Given the description of an element on the screen output the (x, y) to click on. 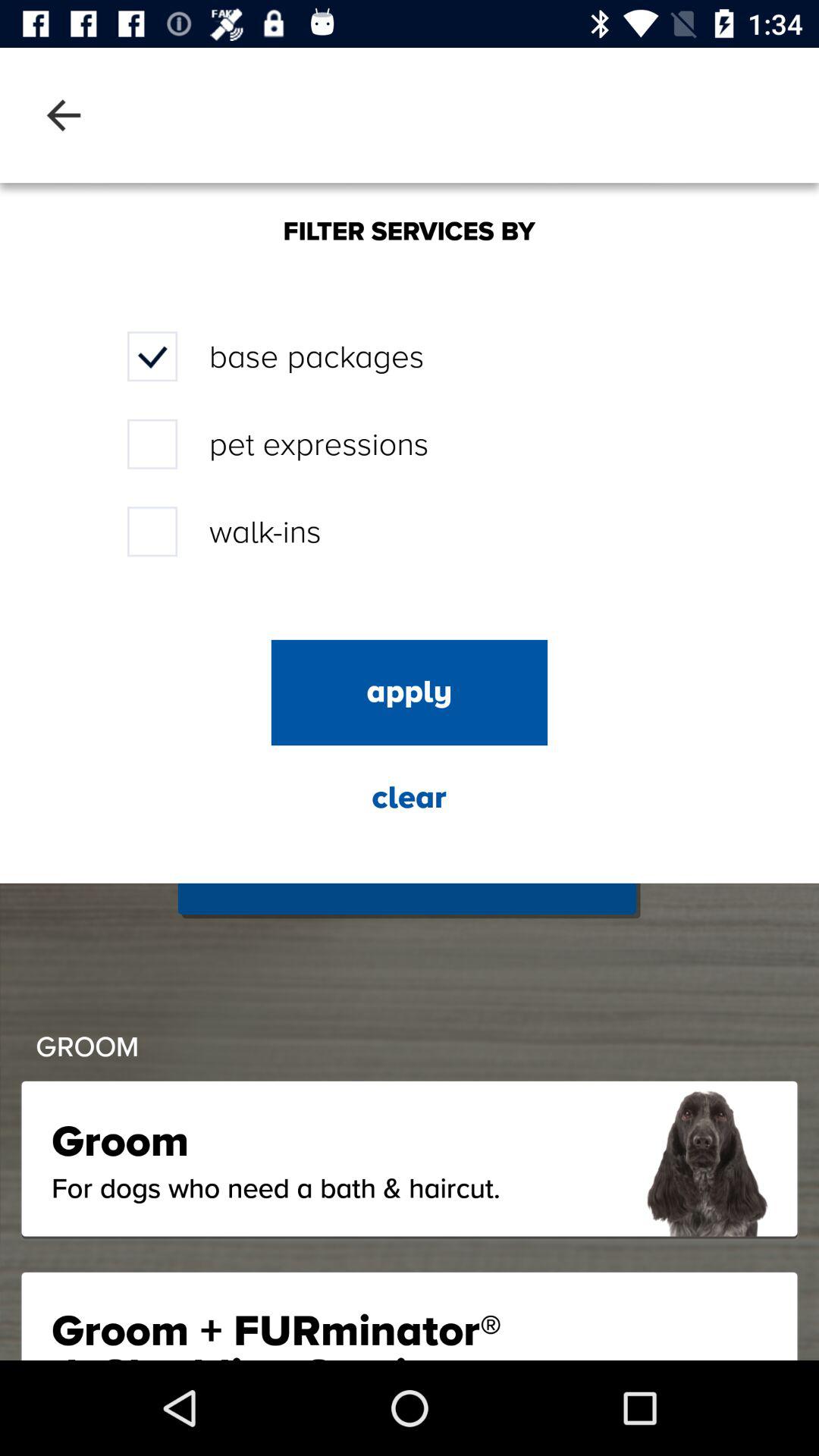
flip to apply (409, 692)
